Given the description of an element on the screen output the (x, y) to click on. 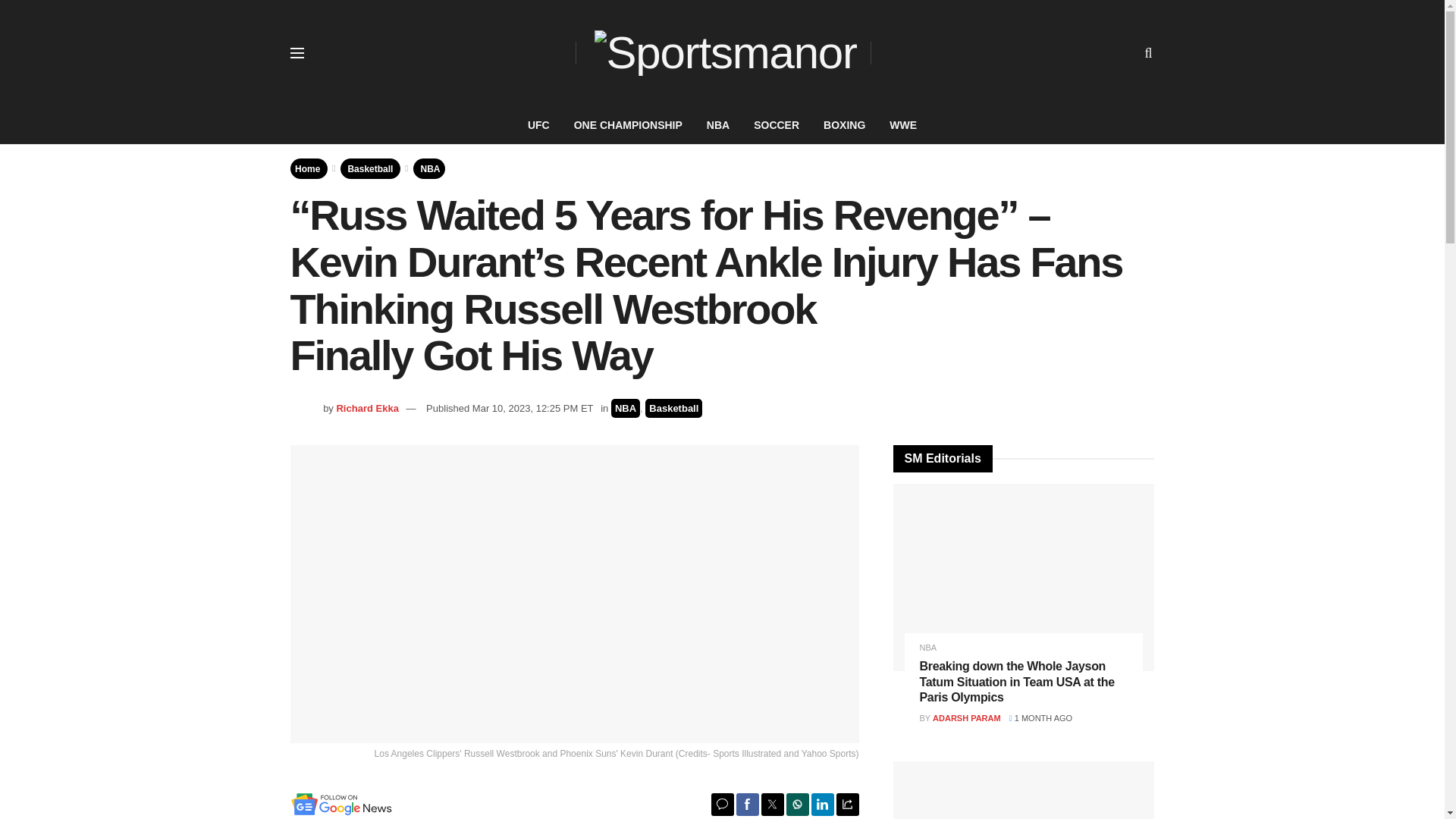
BOXING (843, 125)
Basketball (370, 167)
UFC (538, 125)
NBA (625, 407)
WWE (902, 125)
NBA (430, 167)
Published Mar 10, 2023, 12:25 PM ET (509, 408)
NBA (717, 125)
ONE CHAMPIONSHIP (628, 125)
